Given the description of an element on the screen output the (x, y) to click on. 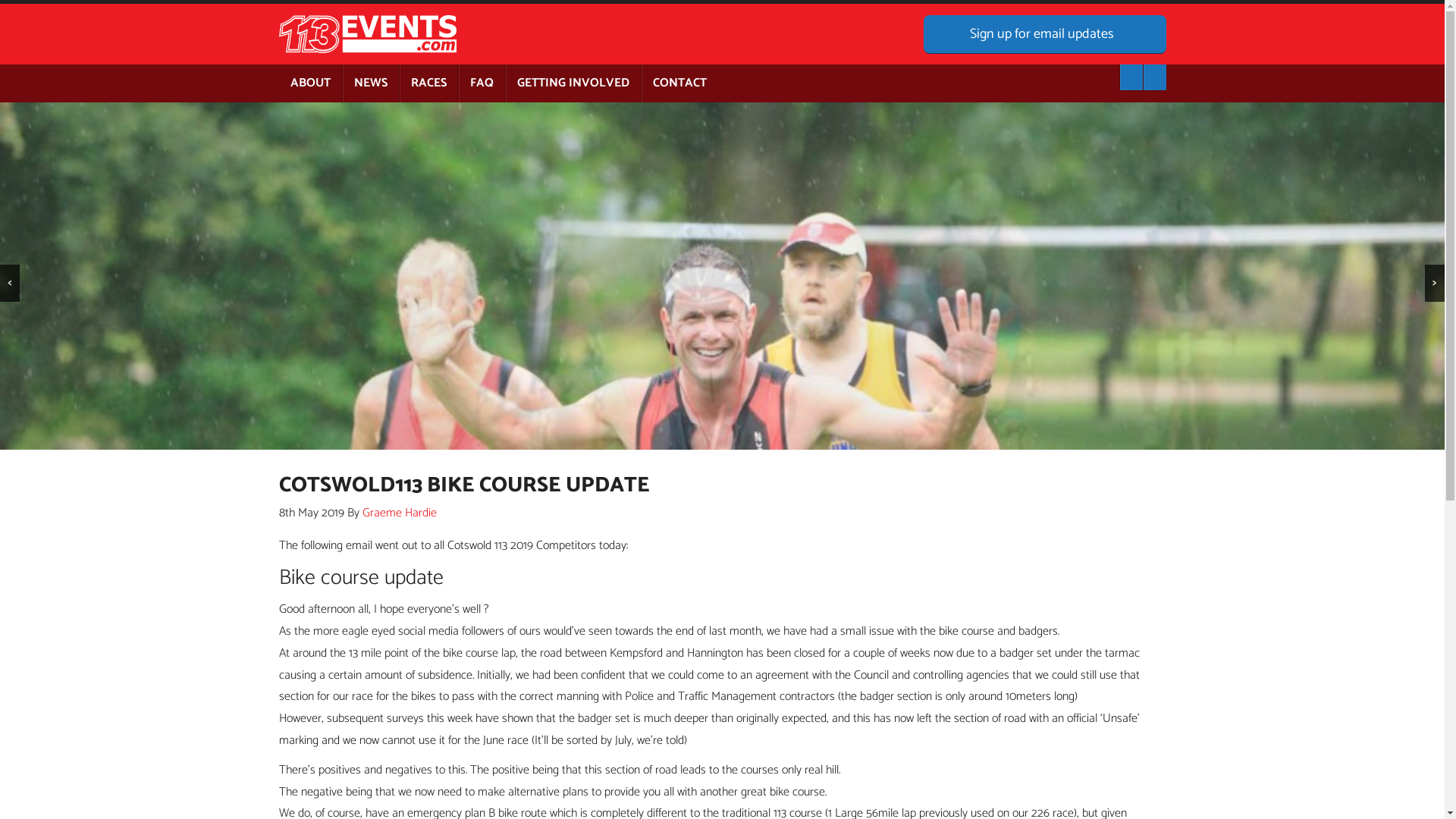
< Element type: text (9, 282)
> Element type: text (1434, 282)
RACES Element type: text (428, 83)
113 Events, triathlon run course Element type: hover (722, 275)
NEWS Element type: text (369, 83)
Graeme Hardie Element type: text (399, 512)
FAQ Element type: text (481, 83)
Sign up for email updates Element type: text (1044, 34)
CONTACT Element type: text (678, 83)
ABOUT Element type: text (310, 83)
GETTING INVOLVED Element type: text (572, 83)
113 Events Ltd Element type: text (370, 34)
